Given the description of an element on the screen output the (x, y) to click on. 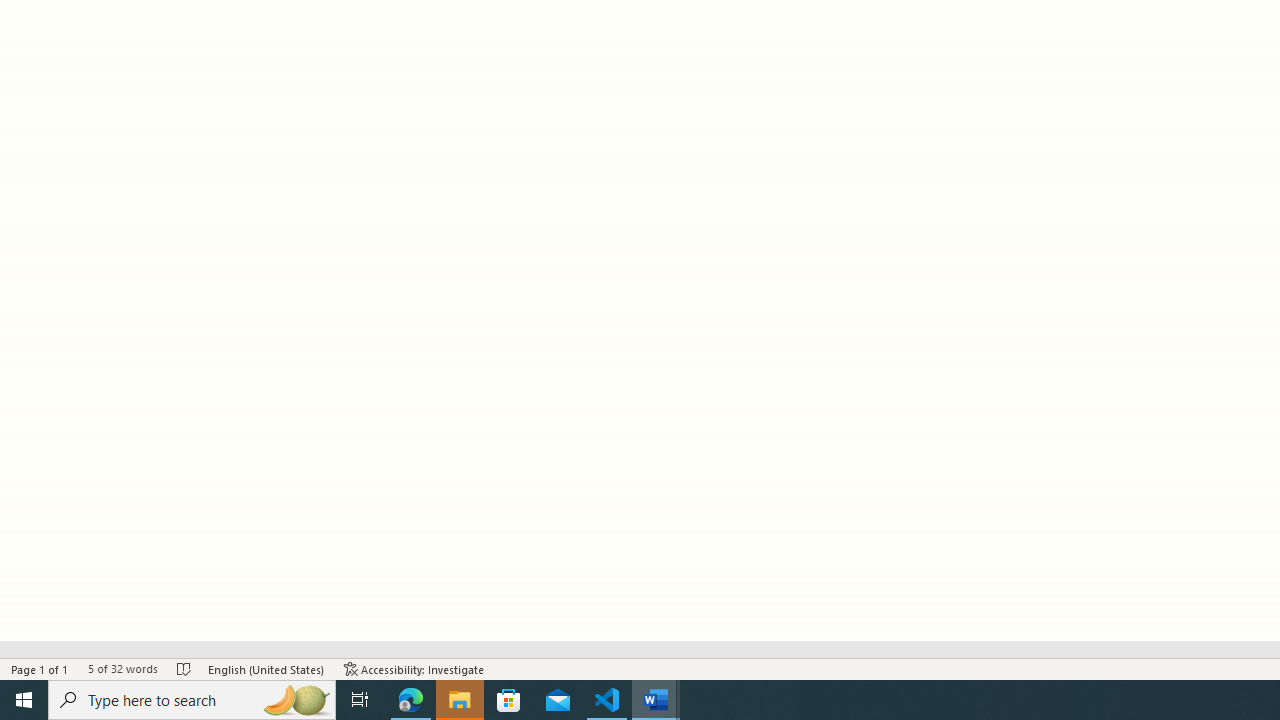
Spelling and Grammar Check No Errors (184, 668)
Word Count 5 of 32 words (122, 668)
Page Number Page 1 of 1 (39, 668)
